Given the description of an element on the screen output the (x, y) to click on. 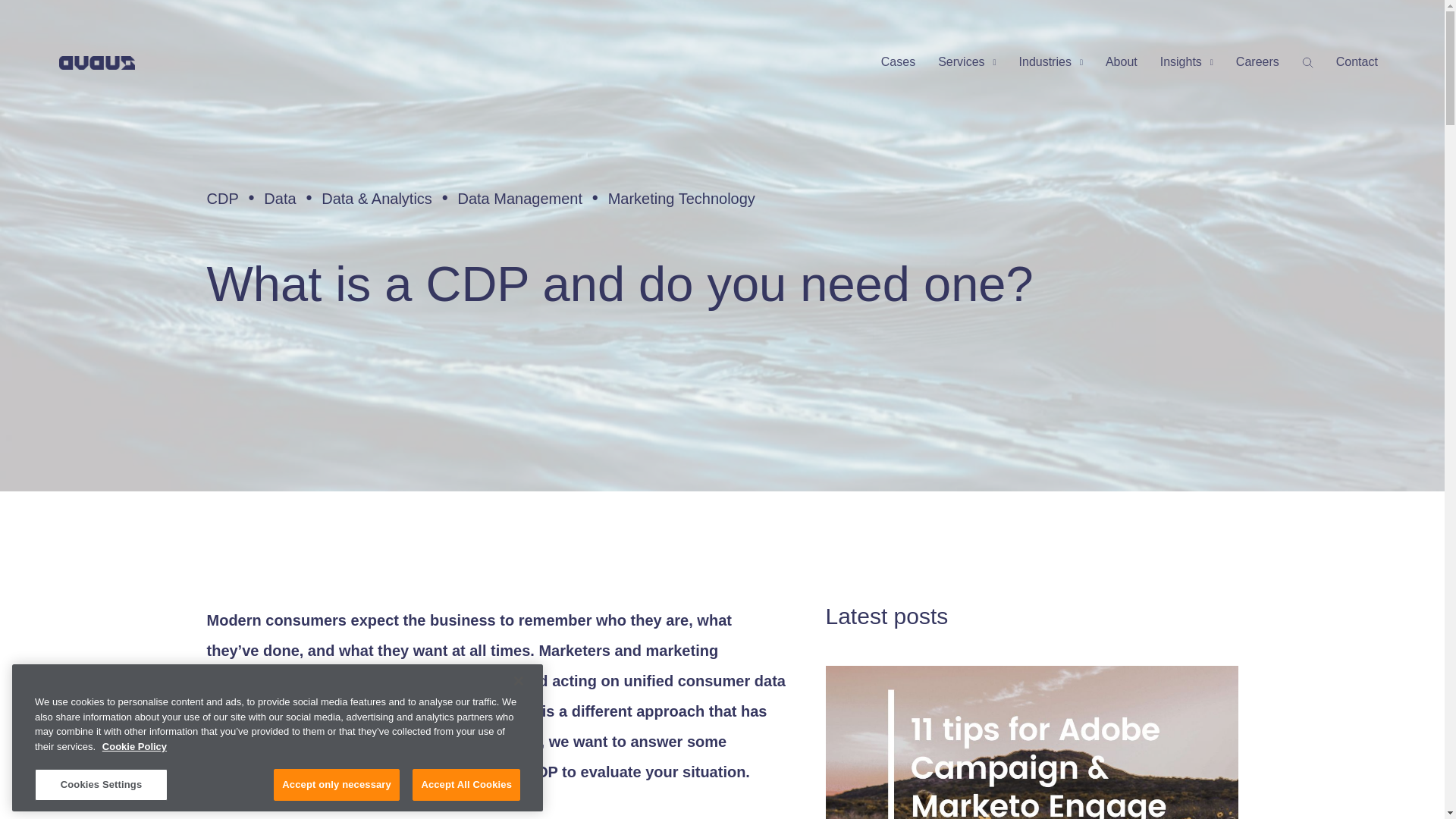
Industries (1051, 62)
Services (966, 62)
Avaus (97, 62)
